Given the description of an element on the screen output the (x, y) to click on. 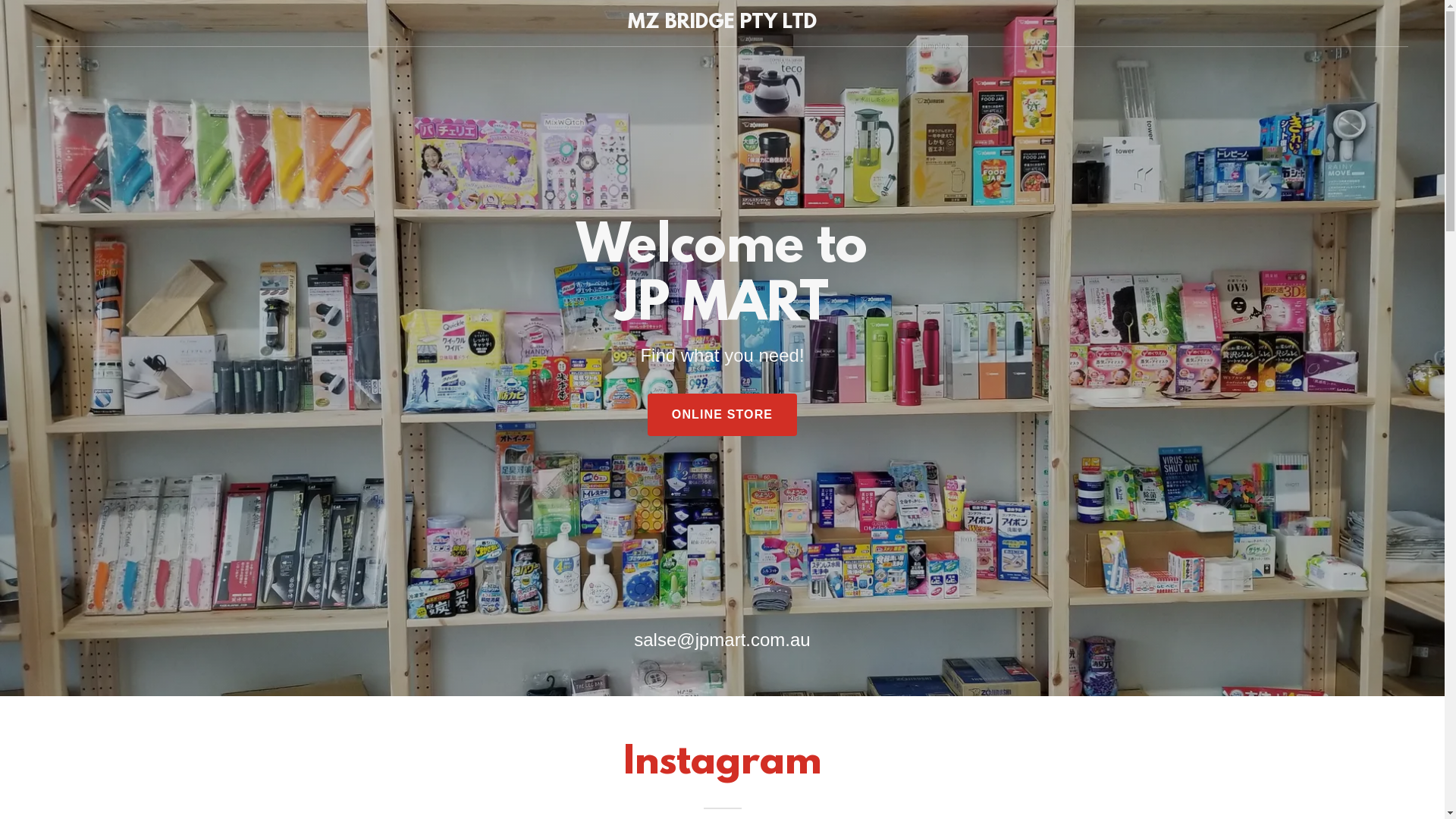
MZ BRIDGE PTY LTD Element type: text (721, 23)
ONLINE STORE Element type: text (722, 414)
salse@jpmart.com.au Element type: text (721, 639)
